Given the description of an element on the screen output the (x, y) to click on. 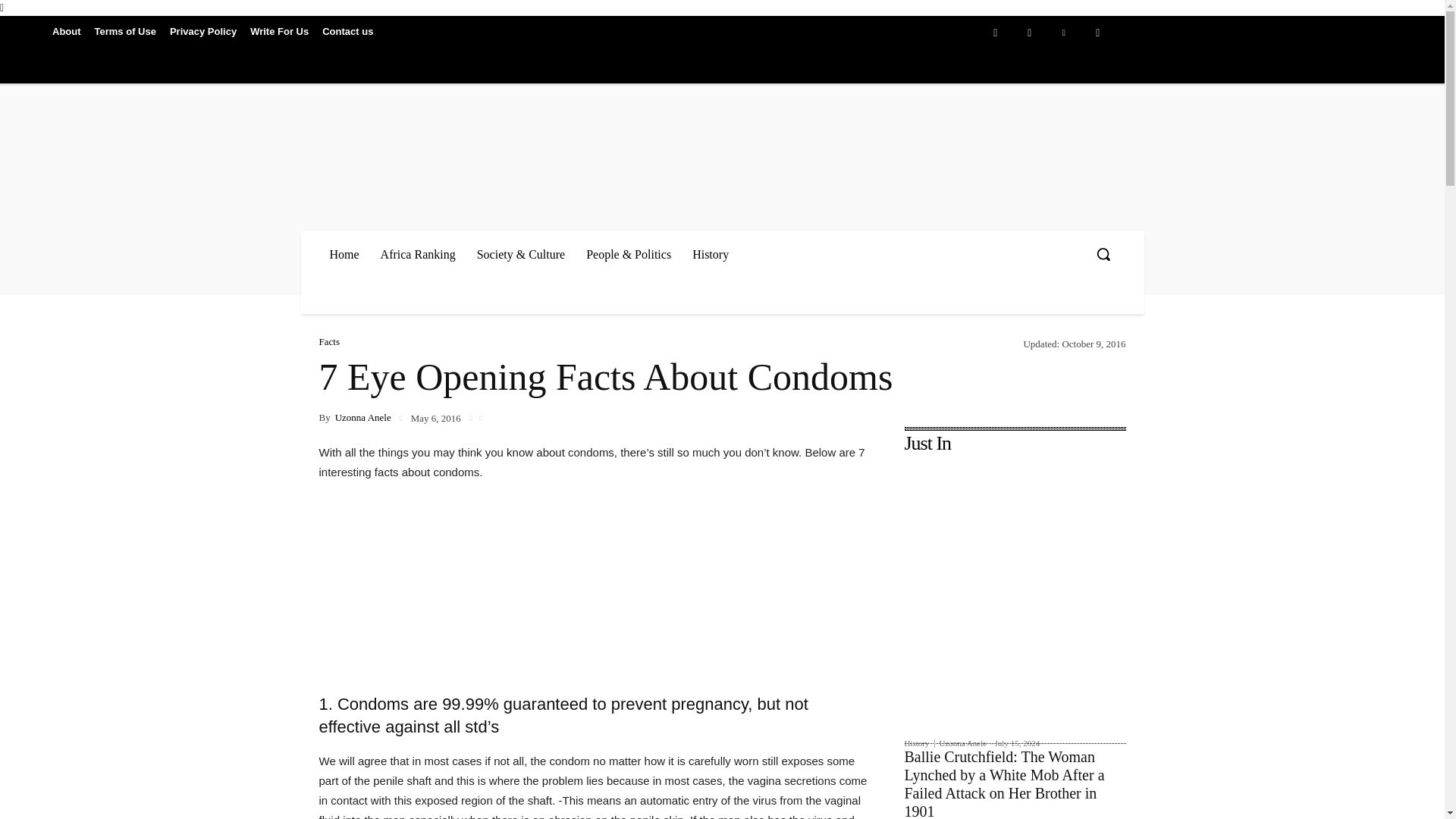
Contact us (347, 30)
Terms of Use (125, 30)
Instagram (1029, 32)
Home (343, 253)
Privacy Policy (203, 30)
Twitter (1097, 32)
Pinterest (1063, 32)
About (66, 30)
TalkAfricana (534, 135)
Uzonna Anele (362, 417)
Africa Ranking (417, 253)
Facebook (995, 32)
Write For Us (279, 30)
History (710, 253)
Facts (328, 341)
